Given the description of an element on the screen output the (x, y) to click on. 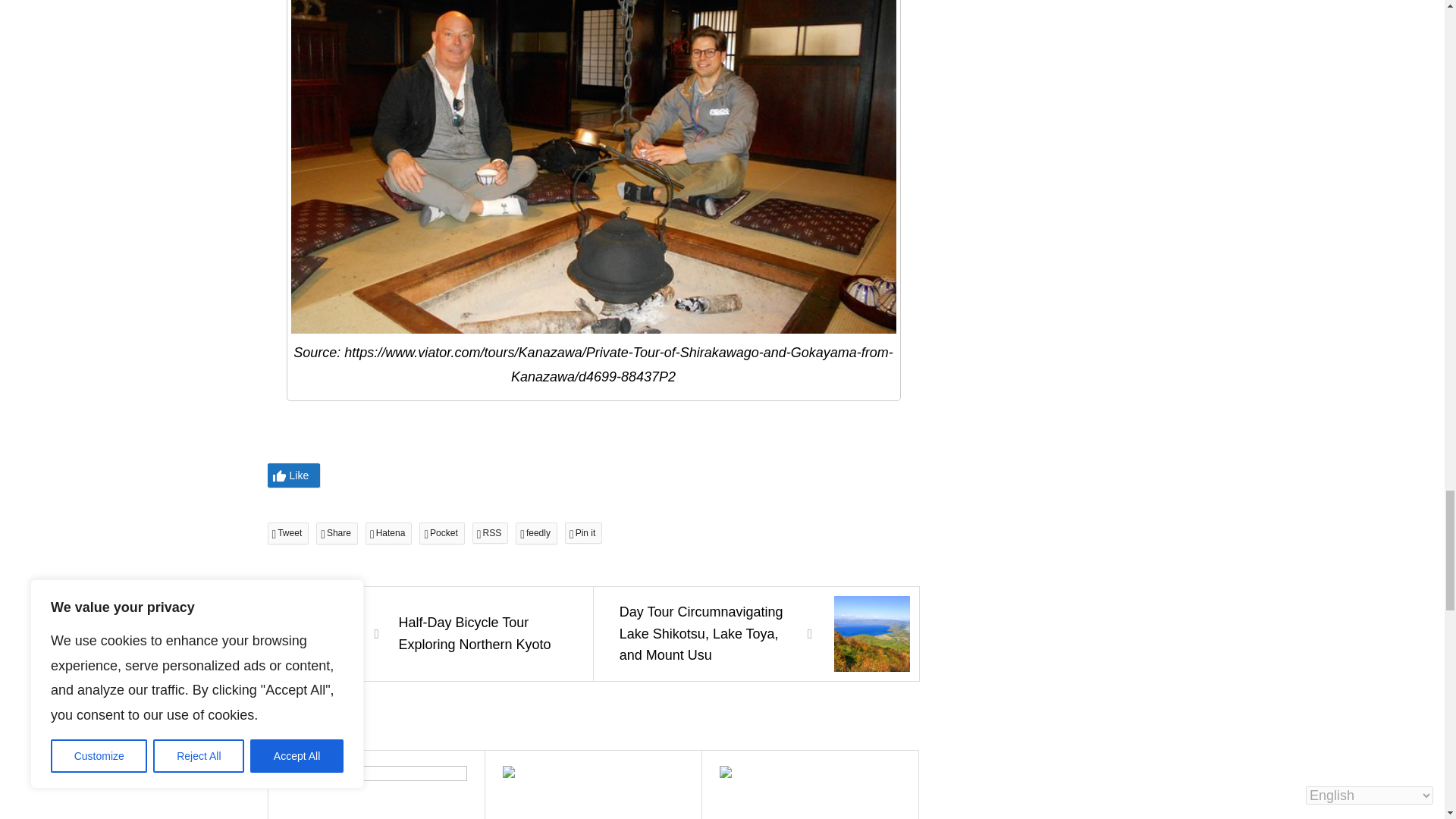
Half-Day Bicycle Tour Exploring Northern Kyoto (429, 633)
